Given the description of an element on the screen output the (x, y) to click on. 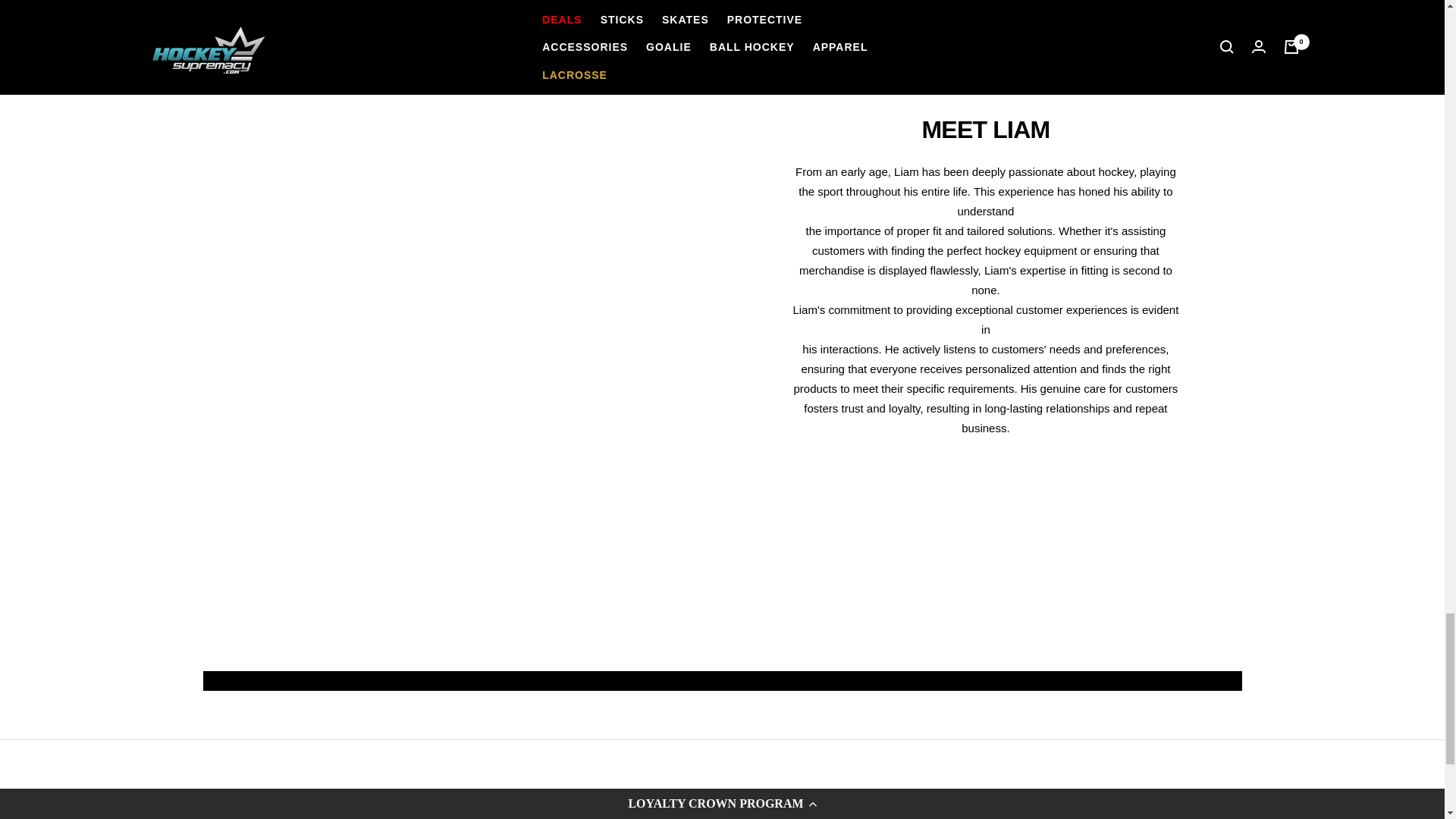
About us (569, 804)
Shipping information (795, 804)
